Given the description of an element on the screen output the (x, y) to click on. 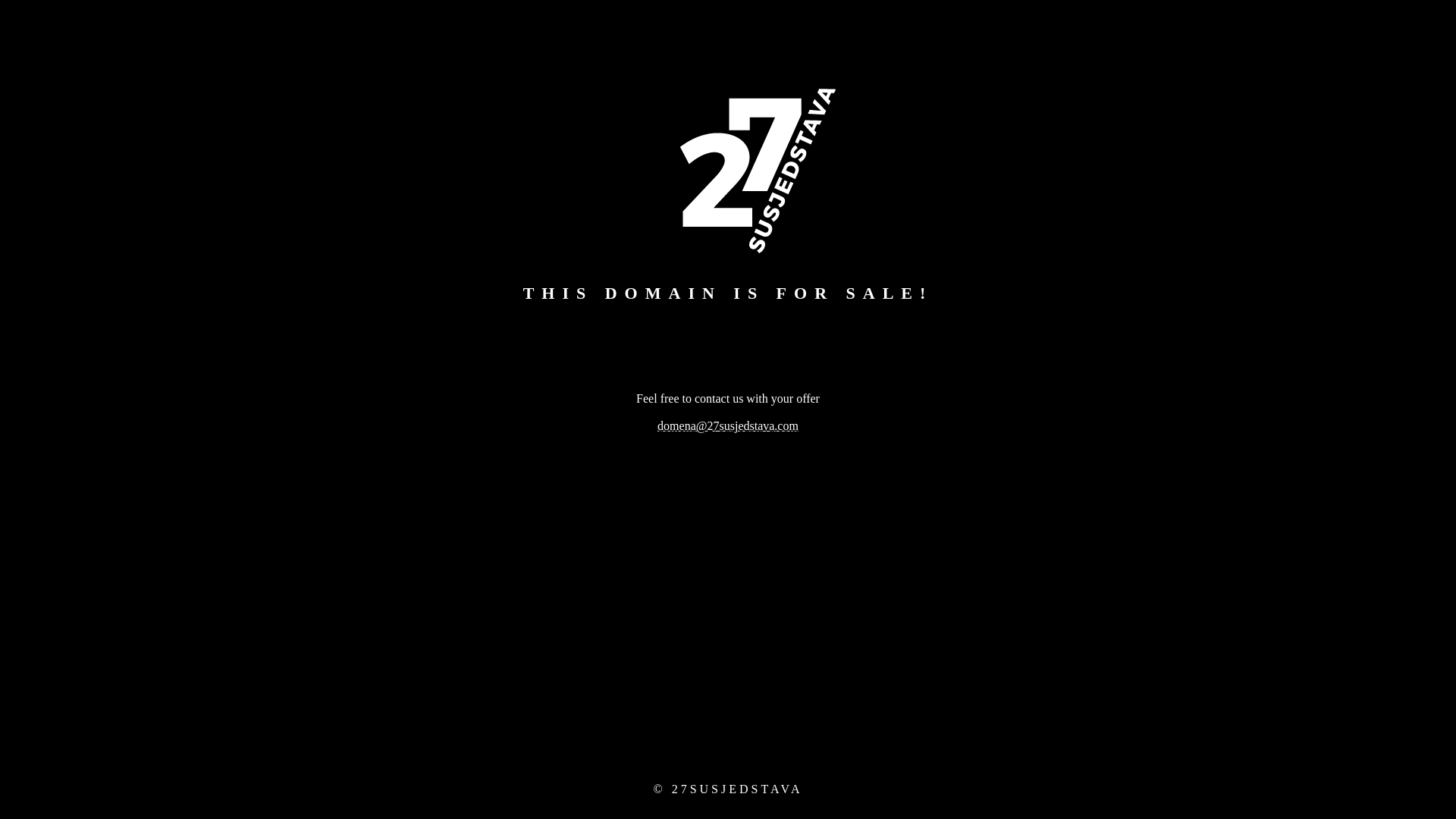
27SUSJEDSTAVA Element type: text (737, 788)
domena@27susjedstava.com Element type: text (727, 425)
